Given the description of an element on the screen output the (x, y) to click on. 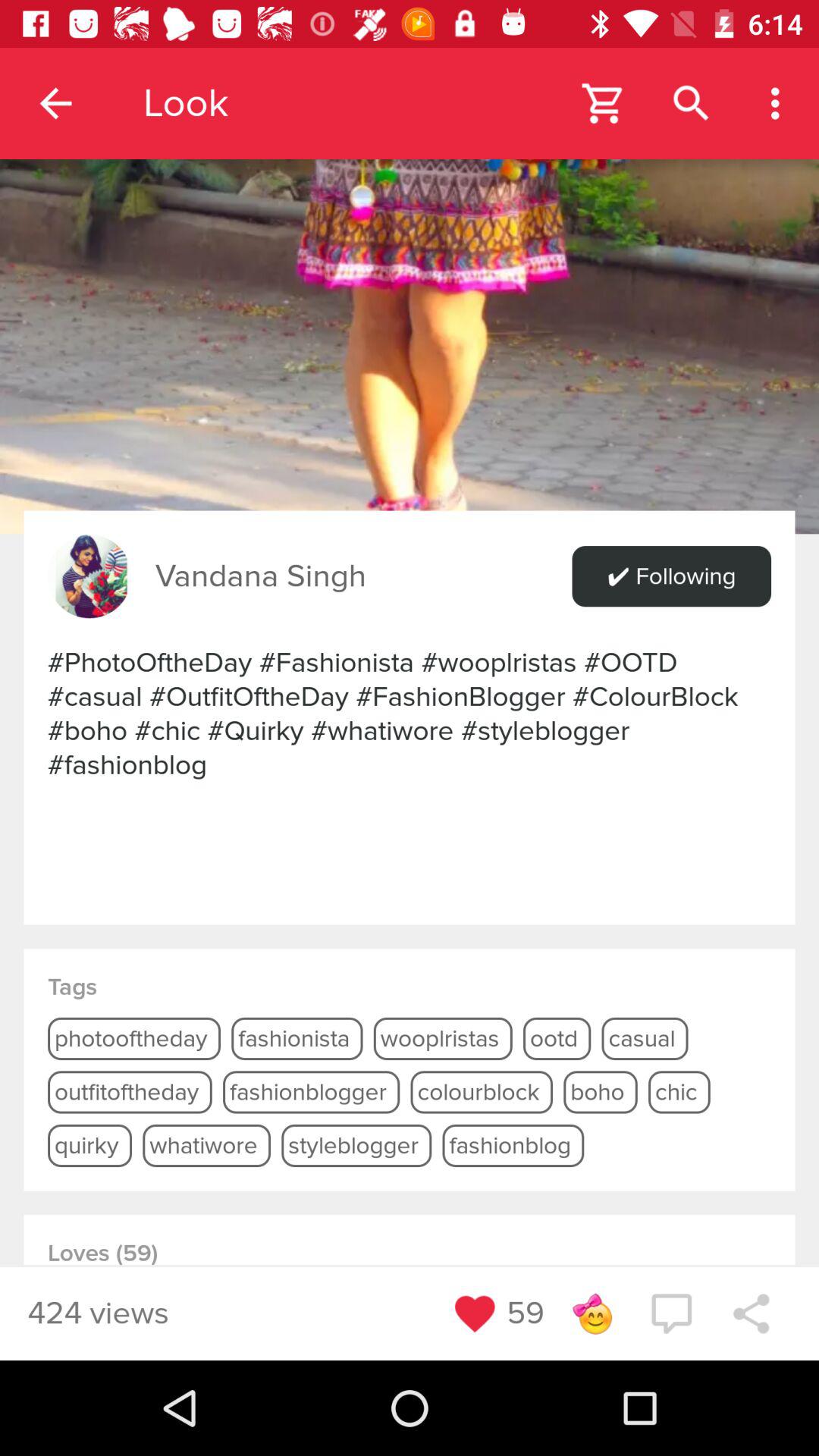
share button to share with friends or on social media (751, 1313)
